Given the description of an element on the screen output the (x, y) to click on. 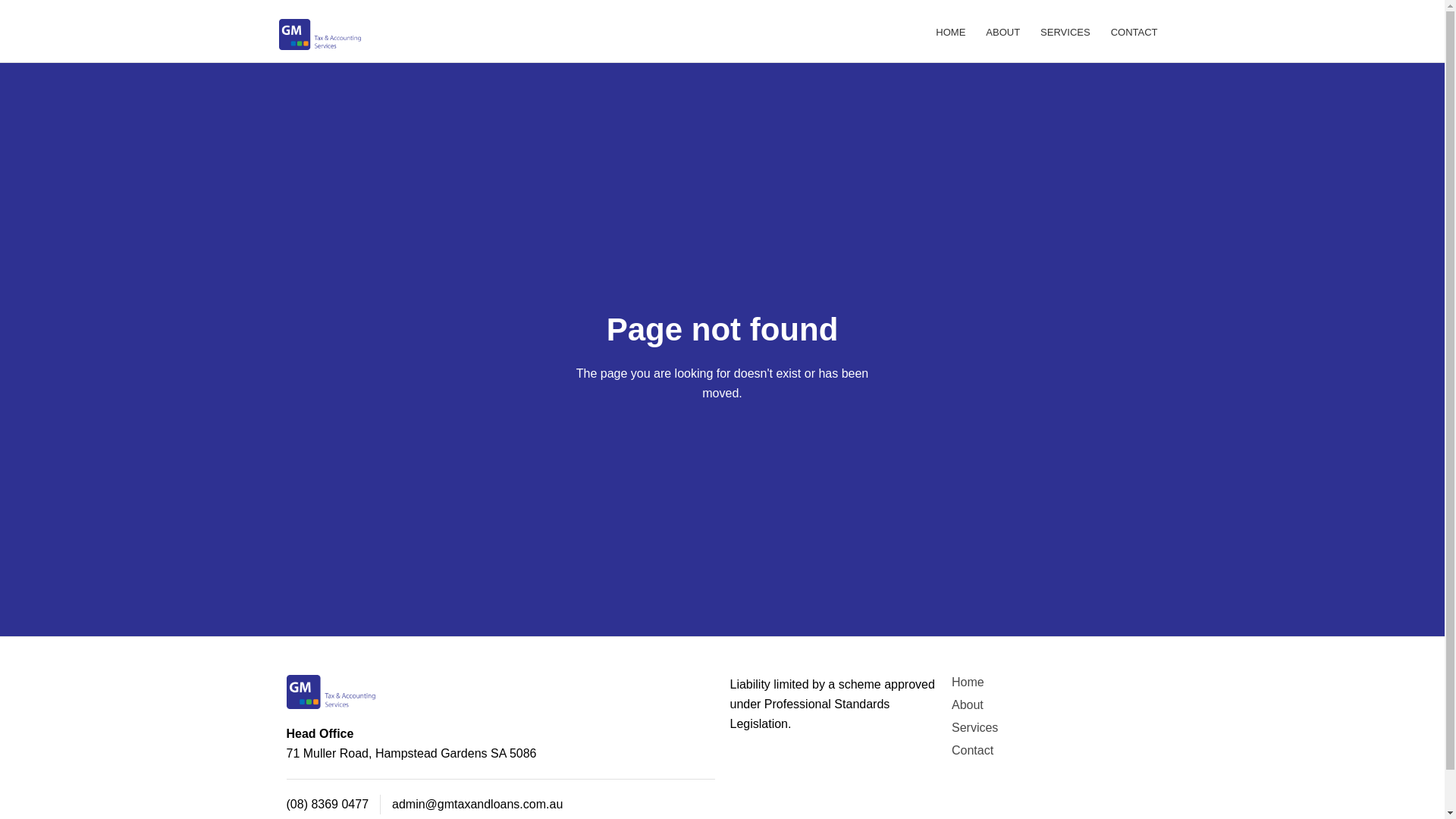
Contact Element type: text (972, 750)
admin@gmtaxandloans.com.au Element type: text (477, 803)
CONTACT Element type: text (1134, 31)
(08) 8369 0477 Element type: text (327, 803)
Services Element type: text (974, 727)
SERVICES Element type: text (1065, 31)
About Element type: text (967, 704)
ABOUT Element type: text (1002, 31)
HOME Element type: text (950, 31)
Home Element type: text (967, 682)
